Given the description of an element on the screen output the (x, y) to click on. 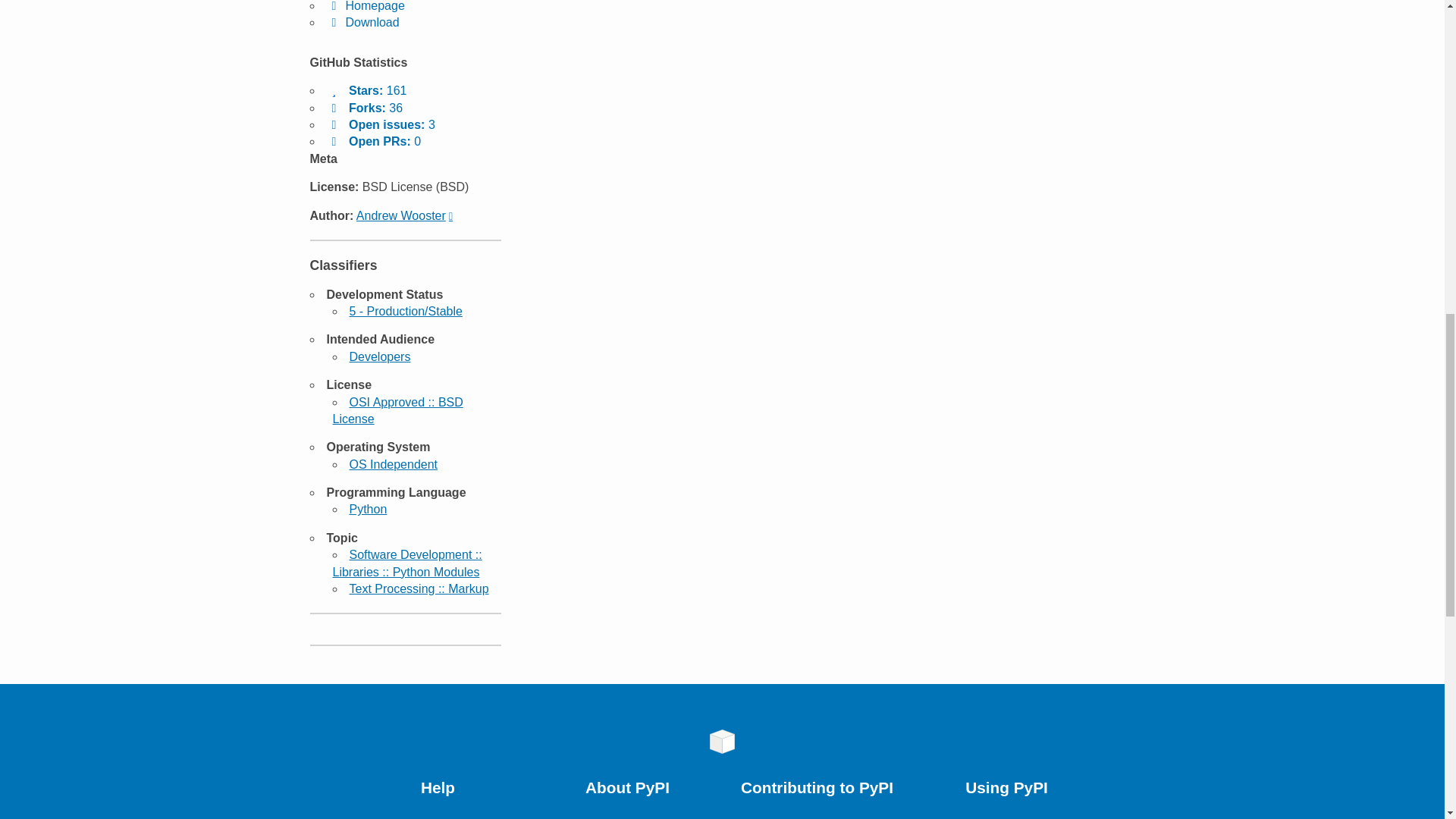
OSI Approved :: BSD License (397, 410)
Open PRs: 0 (373, 141)
Developers (379, 356)
Open issues: 3 (379, 124)
Forks: 36 (364, 107)
Software Development :: Libraries :: Python Modules (406, 562)
Andrew Wooster (404, 215)
Homepage (365, 6)
OS Independent (393, 463)
Download (362, 21)
Python (368, 508)
Text Processing :: Markup (418, 588)
Stars: 161 (366, 90)
